Given the description of an element on the screen output the (x, y) to click on. 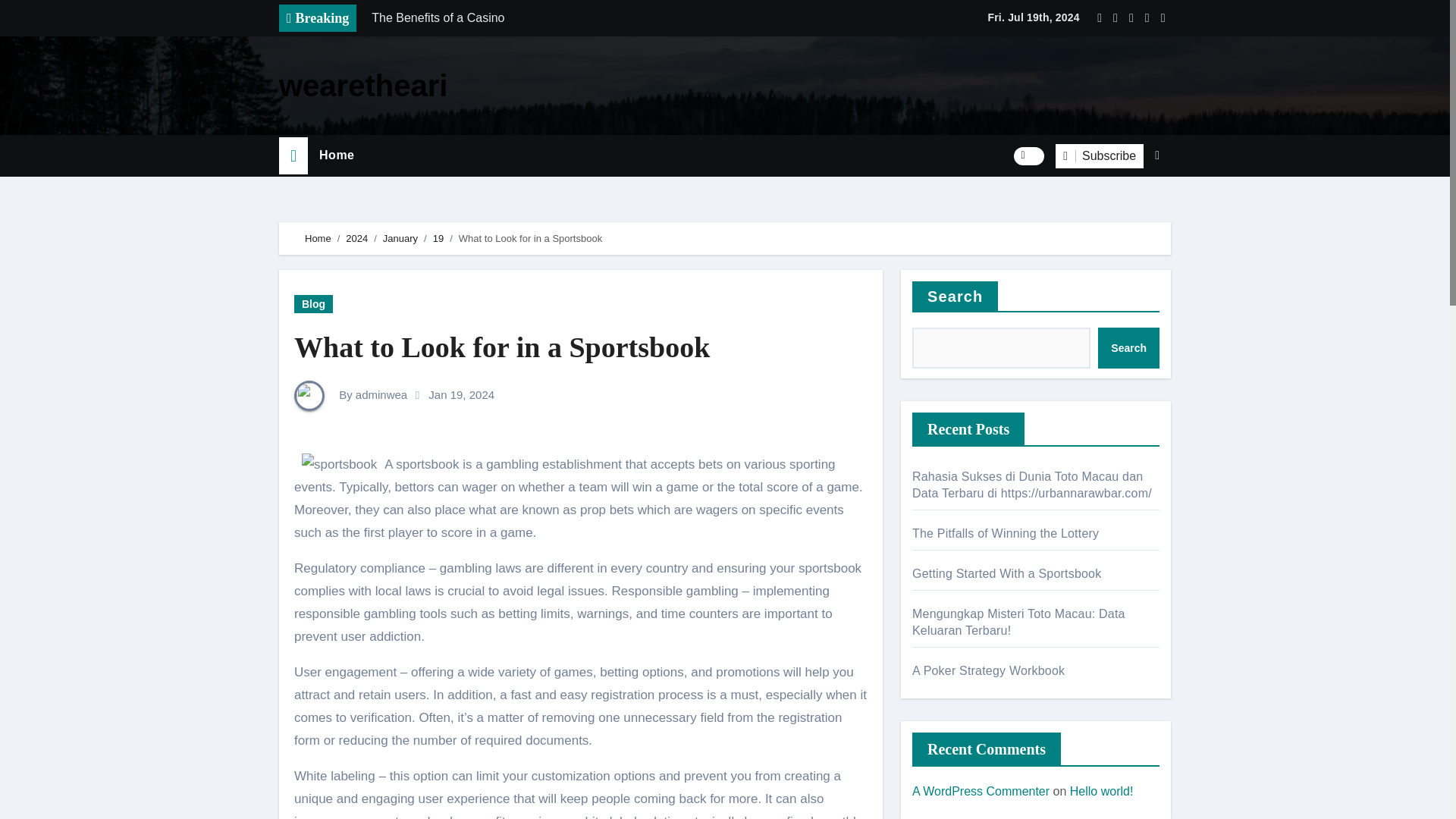
By adminwea (350, 394)
Permalink to: What to Look for in a Sportsbook (502, 347)
Home (317, 238)
Home (336, 155)
What to Look for in a Sportsbook (502, 347)
The Benefits of a Casino (574, 18)
19 (438, 238)
January (399, 238)
wearetheari (362, 85)
2024 (357, 238)
Blog (313, 303)
Subscribe (1098, 156)
Home (336, 155)
